Given the description of an element on the screen output the (x, y) to click on. 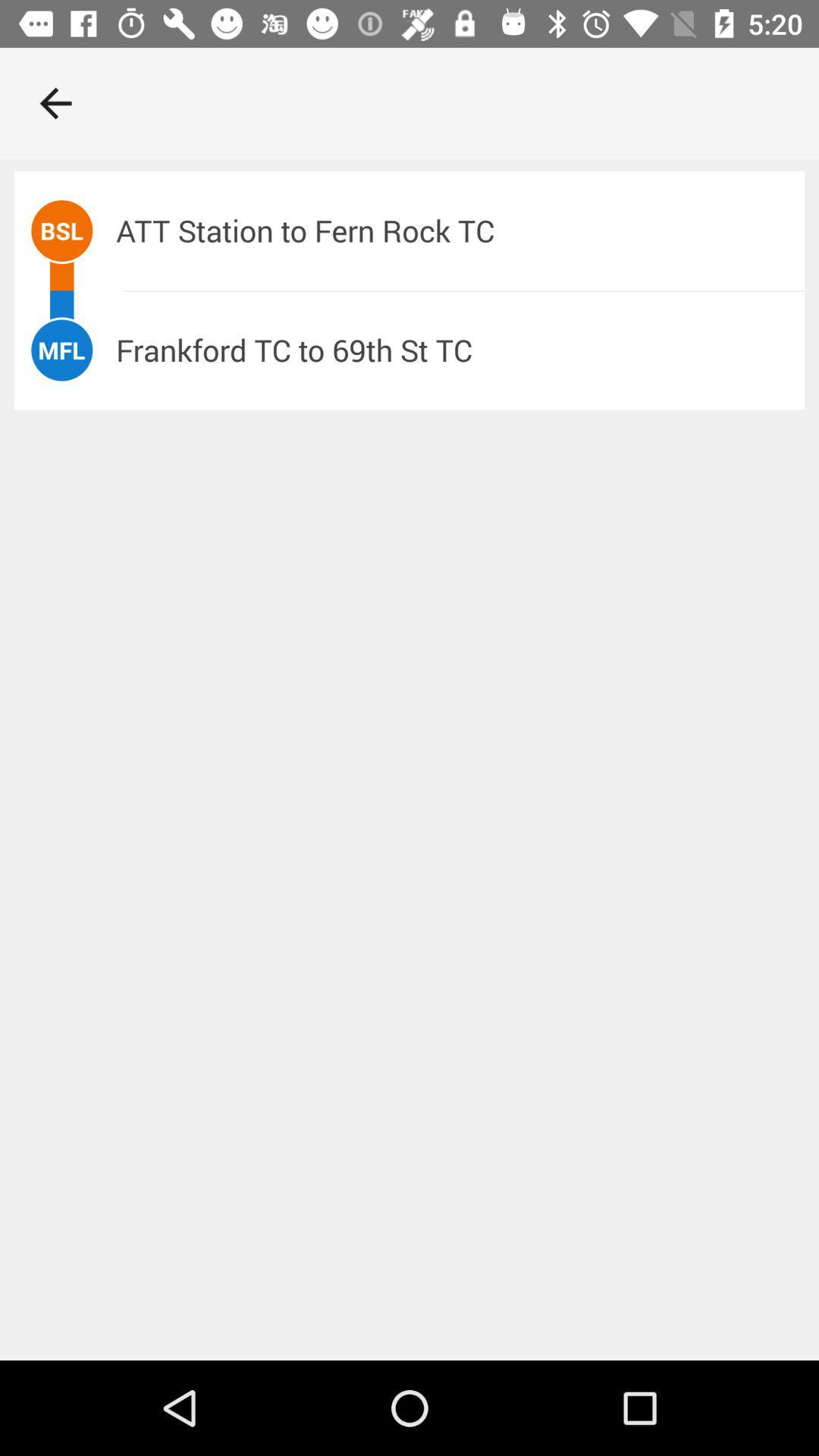
flip until the frankford tc to item (460, 349)
